Given the description of an element on the screen output the (x, y) to click on. 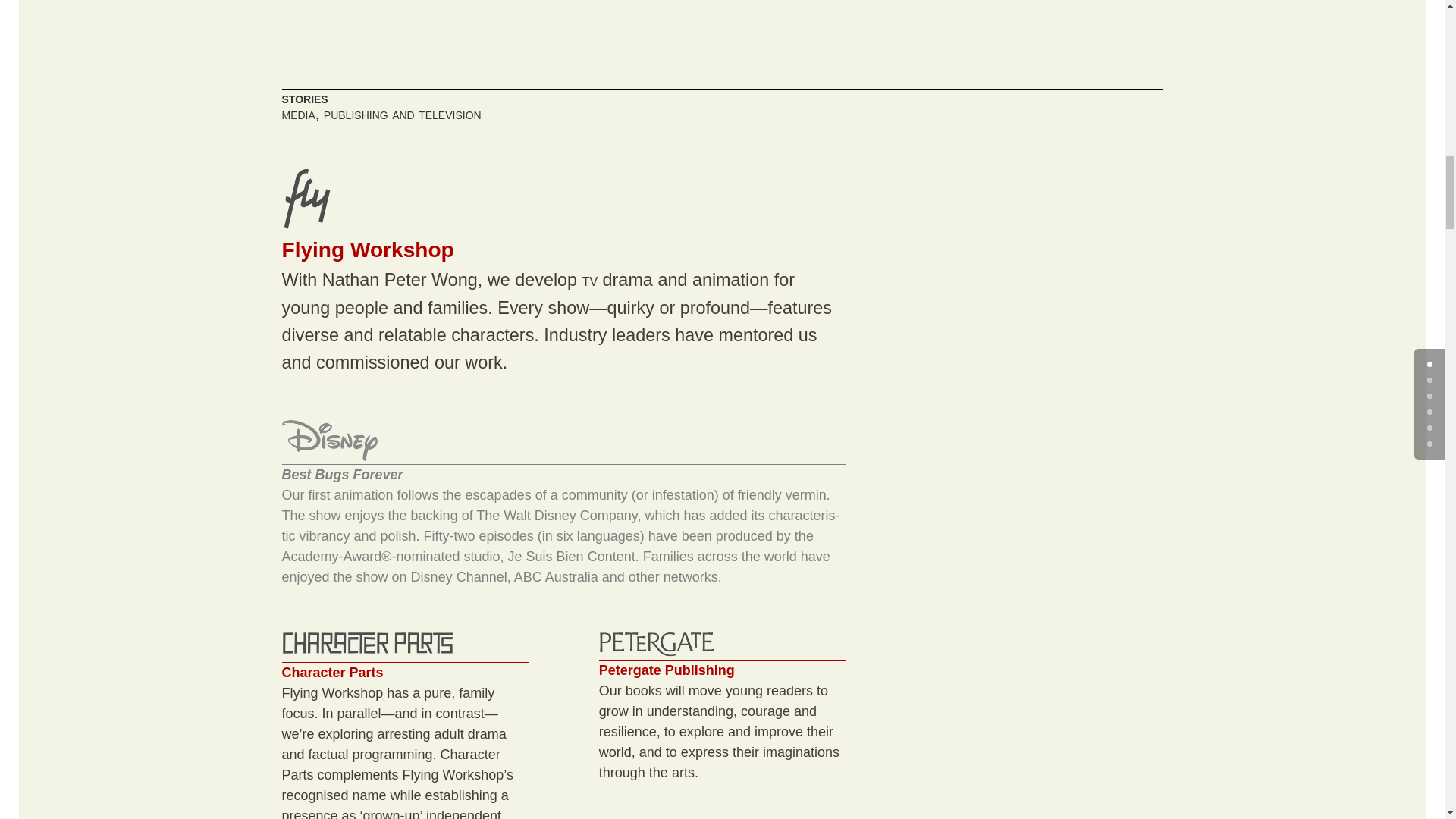
Petergate Publishing (656, 643)
Petergate Publishing (368, 644)
